Given the description of an element on the screen output the (x, y) to click on. 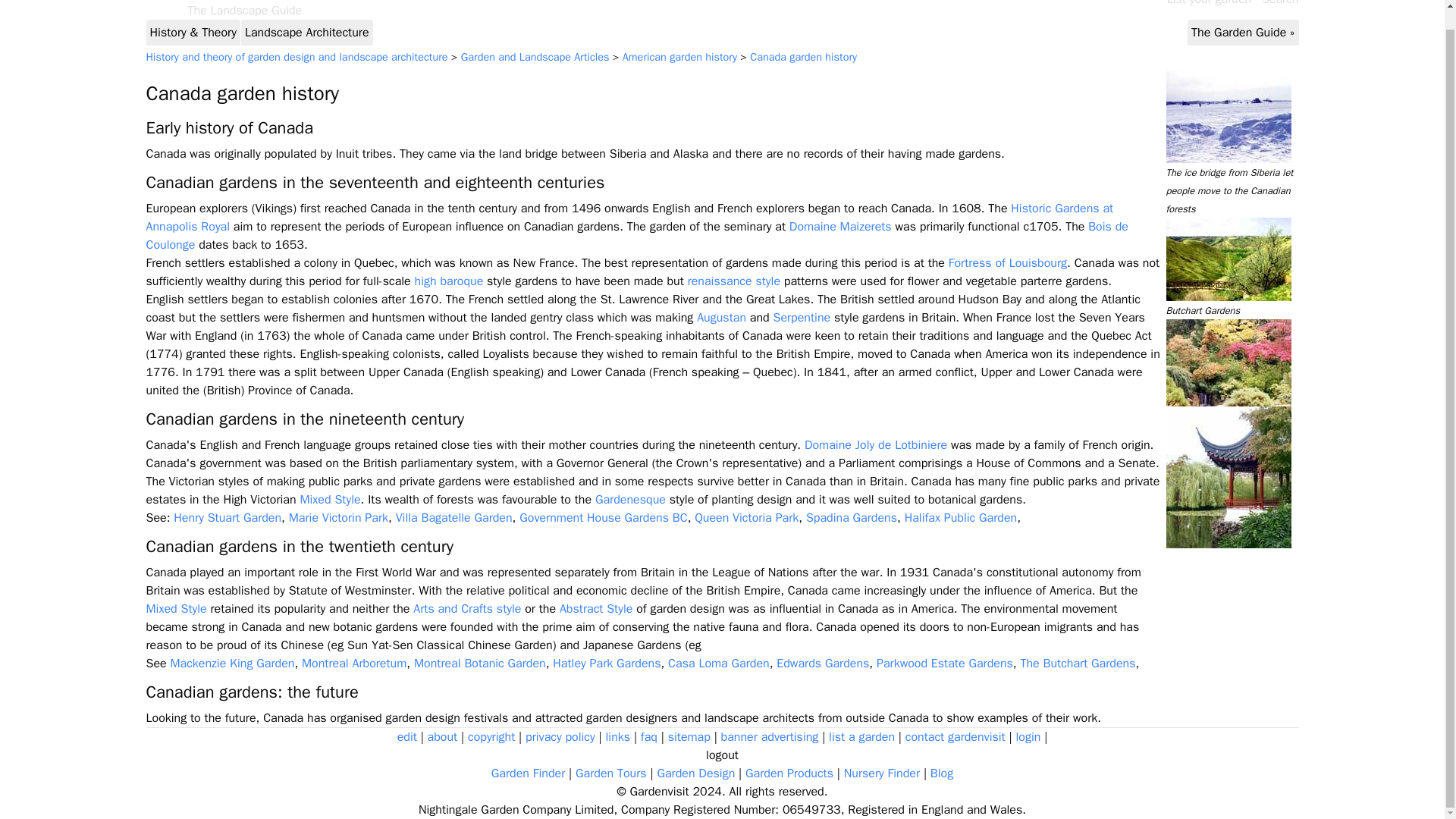
Augustan (721, 317)
Serpentine (801, 317)
Mixed Style (329, 499)
Garden and Landscape Articles (535, 56)
high baroque (448, 281)
List your garden (1209, 3)
Search (1280, 3)
Domaine Joly de Lotbiniere (876, 444)
